Given the description of an element on the screen output the (x, y) to click on. 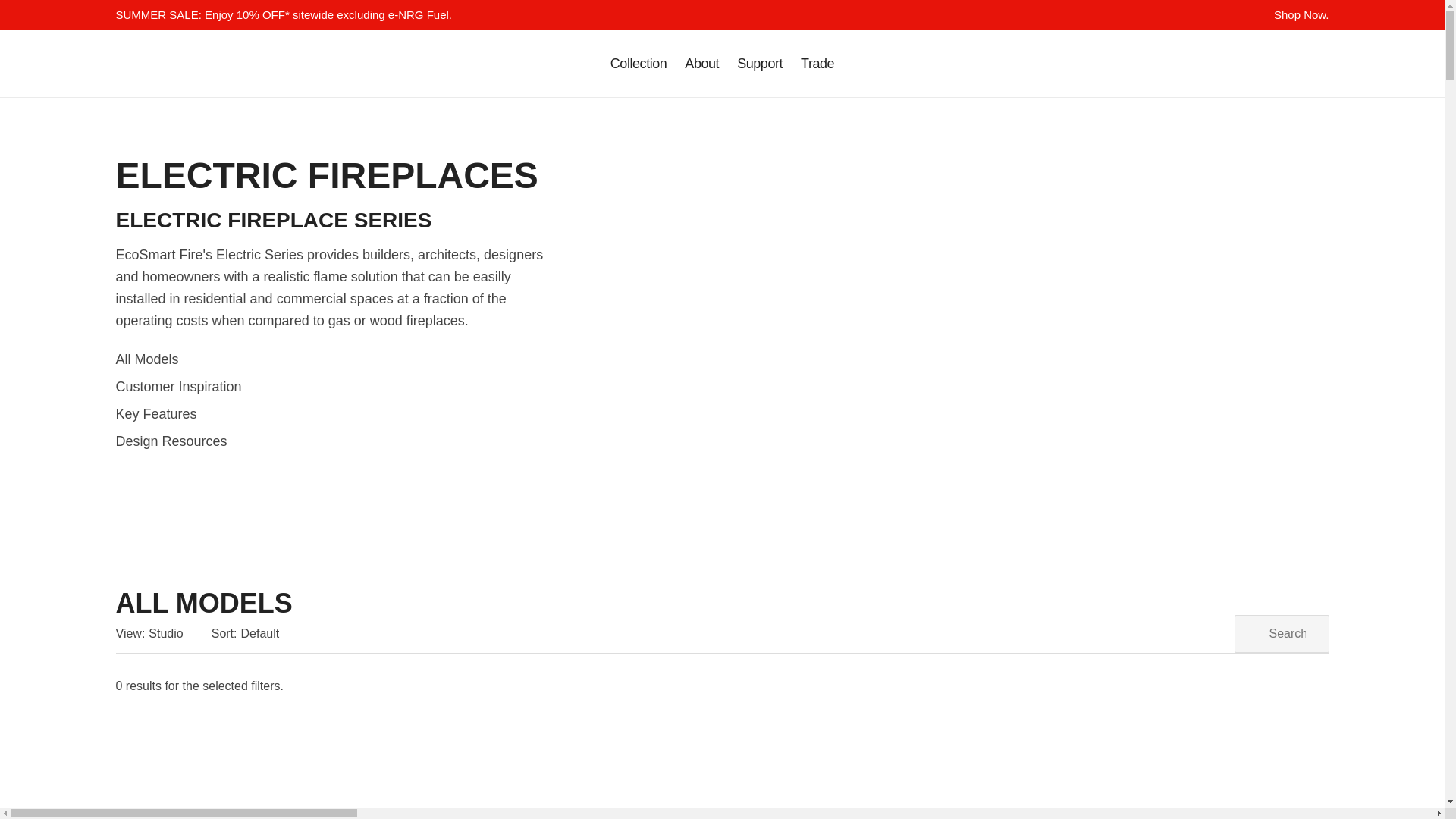
Sign In (1318, 63)
Collection (638, 63)
About (701, 63)
Support (759, 63)
Trade (817, 63)
Contact our specialists (759, 63)
Search (1258, 63)
Cart (1288, 63)
Mad Design Group (148, 63)
Phone (1228, 63)
